Given the description of an element on the screen output the (x, y) to click on. 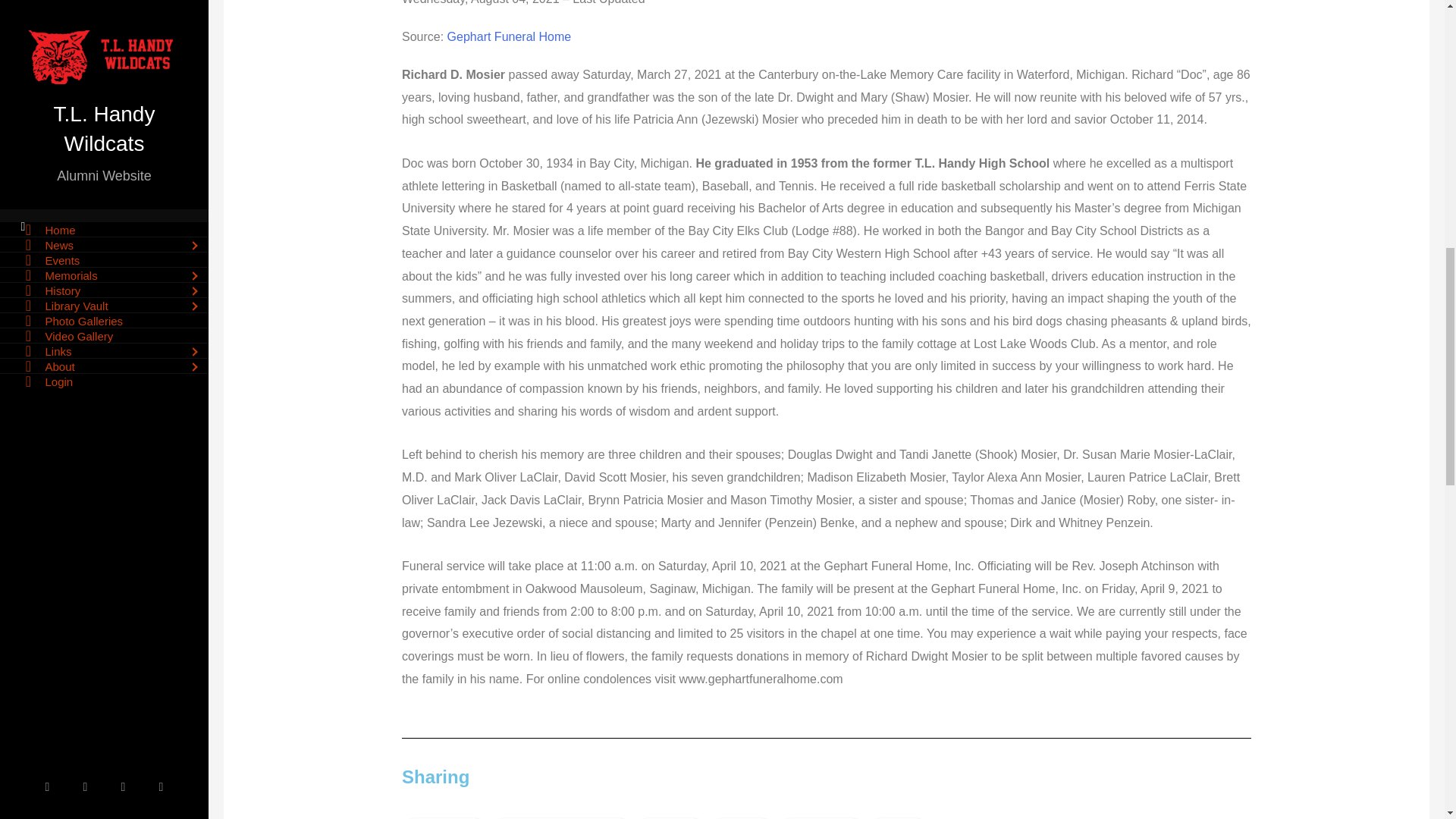
Share on Twitter (669, 818)
Share on Email (741, 818)
Share on Print (897, 818)
